Given the description of an element on the screen output the (x, y) to click on. 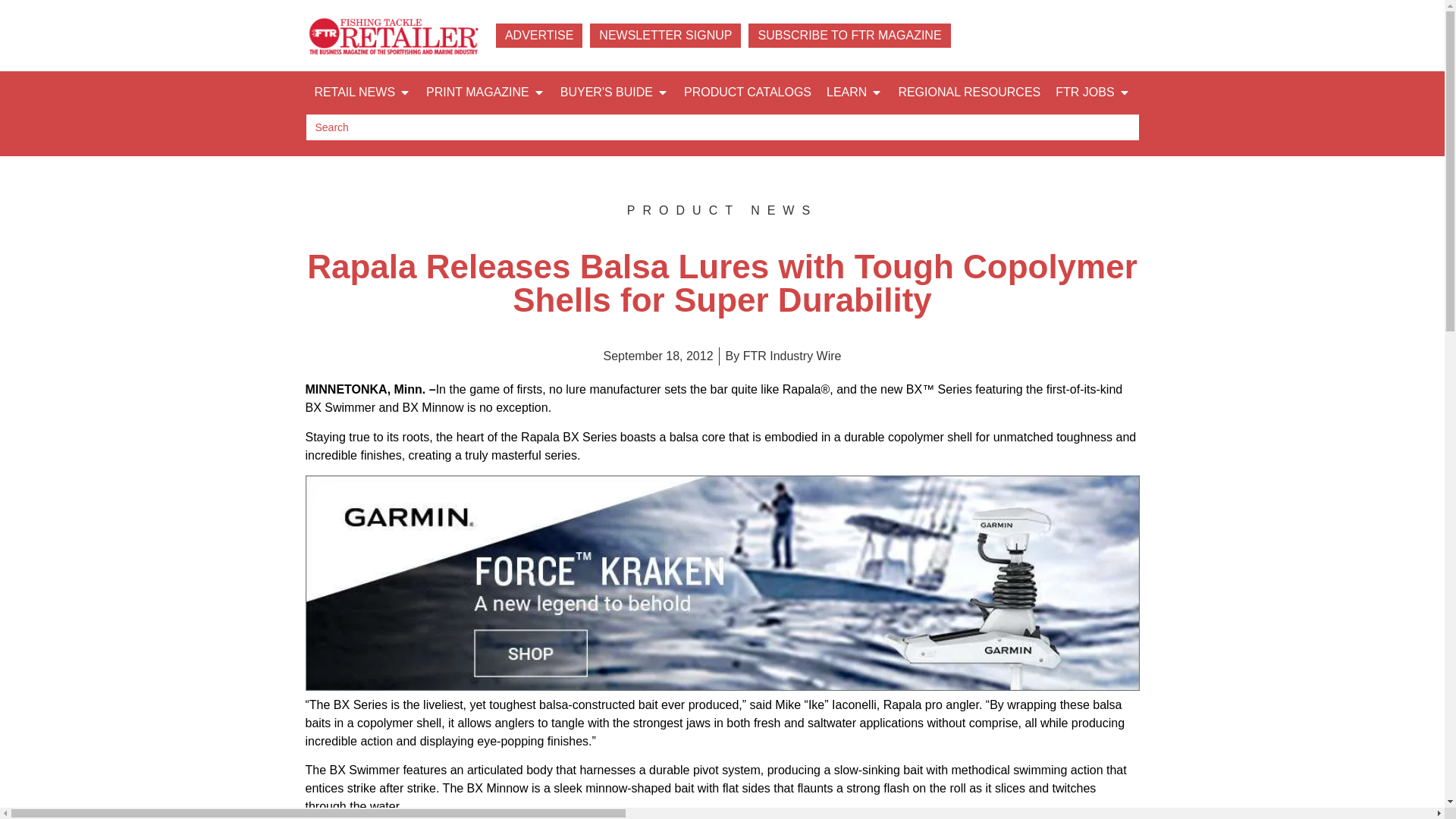
PRINT MAGAZINE (477, 92)
RETAIL NEWS (354, 92)
ADVERTISE (539, 35)
NEWSLETTER SIGNUP (665, 35)
SUBSCRIBE TO FTR MAGAZINE (849, 35)
